Given the description of an element on the screen output the (x, y) to click on. 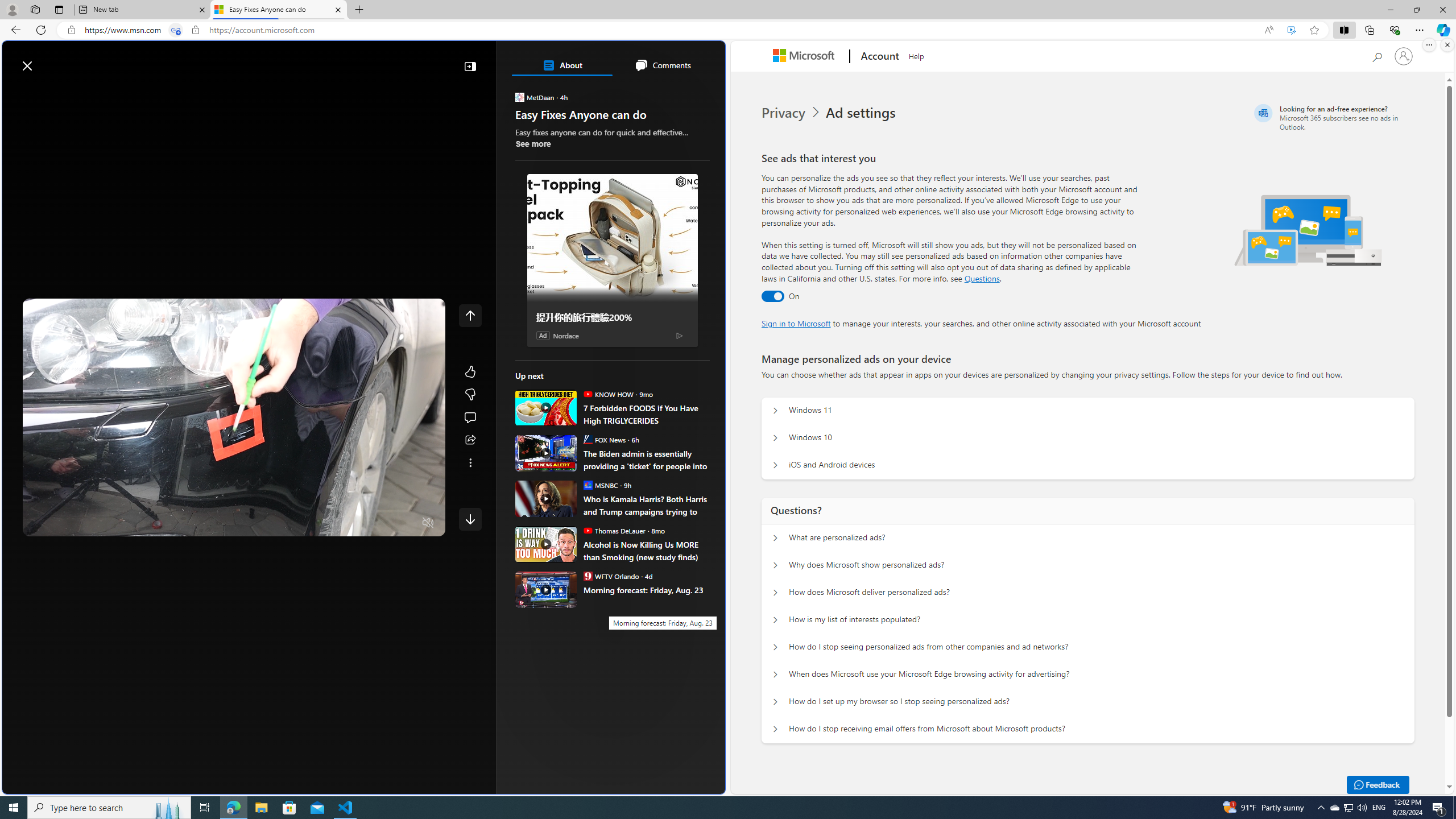
Pause (39, 523)
WFTV Orlando (587, 575)
Skip to footer (46, 59)
Fullscreen (405, 523)
Web search (161, 60)
